Given the description of an element on the screen output the (x, y) to click on. 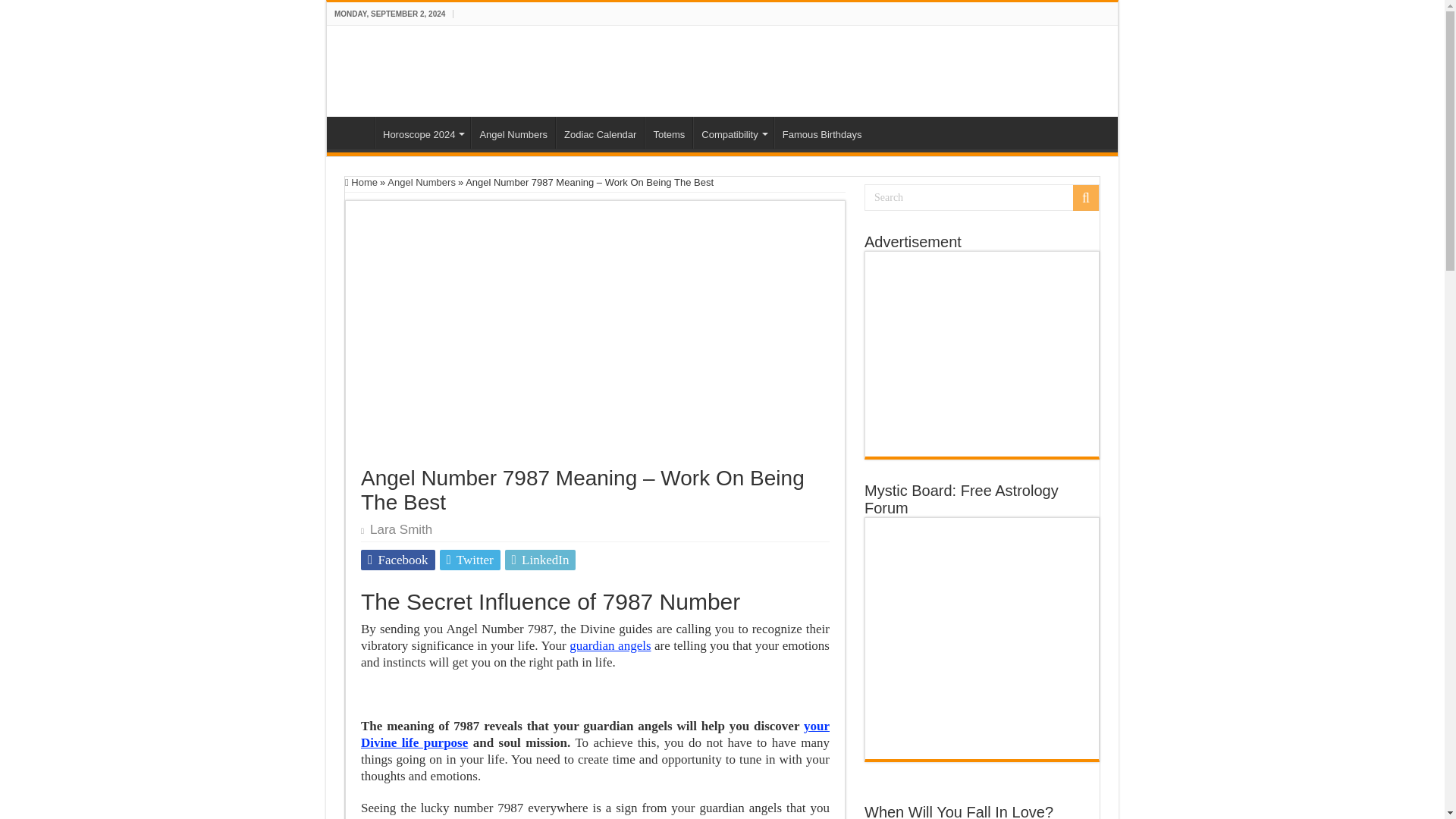
Twitter (469, 559)
Horoscope 2024 (422, 132)
your Divine life purpose (595, 734)
Search (981, 197)
Totems (669, 132)
Sun Signs (405, 67)
Angel Numbers (512, 132)
Zodiac Calendar (599, 132)
Sun Signs (354, 132)
Facebook (398, 559)
